Given the description of an element on the screen output the (x, y) to click on. 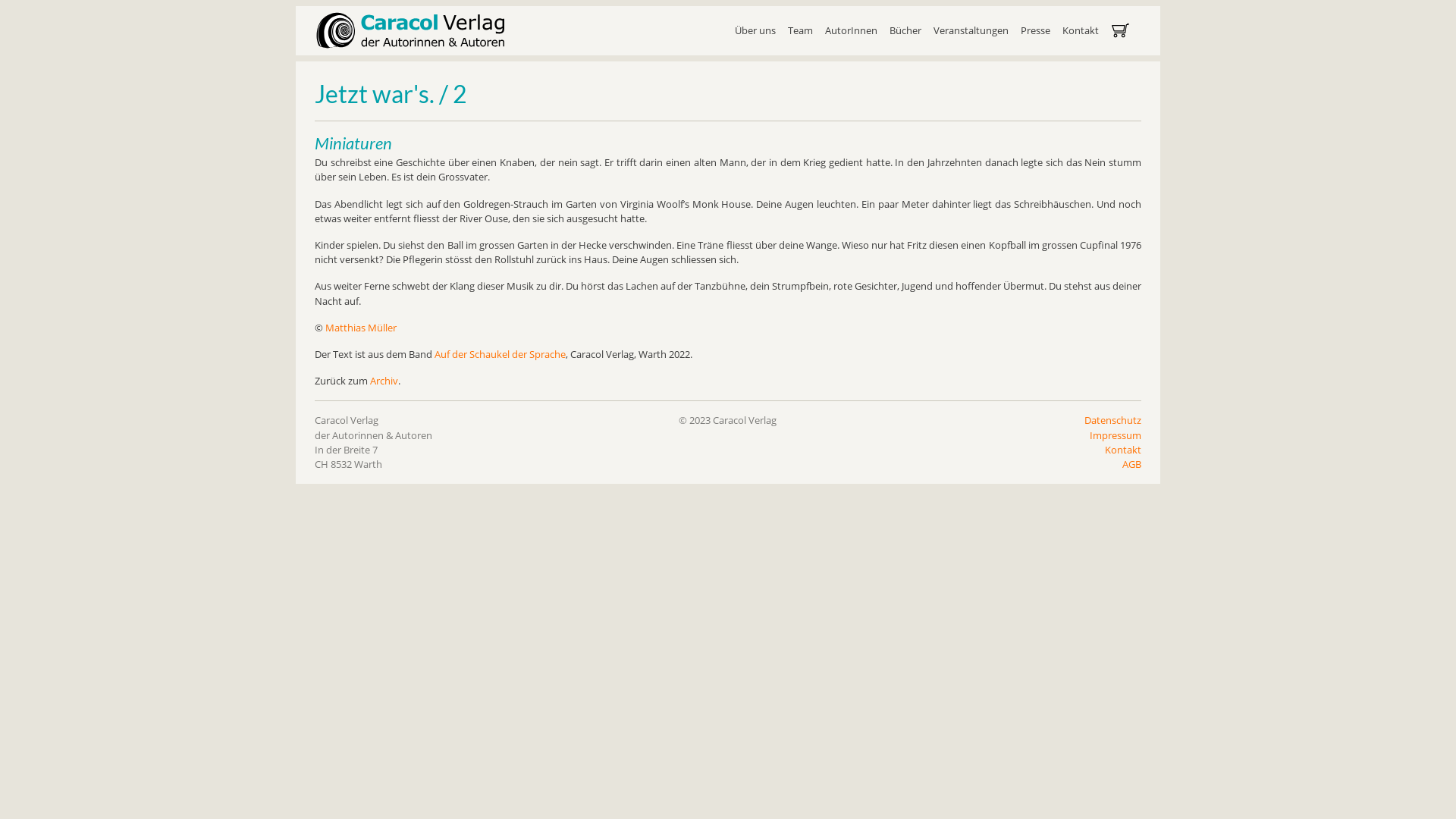
Presse Element type: text (1035, 30)
Kontakt Element type: text (1080, 30)
Datenschutz Element type: text (1112, 419)
AGB Element type: text (1131, 463)
Veranstaltungen Element type: text (970, 30)
AutorInnen Element type: text (851, 30)
Kontakt Element type: text (1122, 449)
Auf der Schaukel der Sprache Element type: text (499, 353)
Impressum Element type: text (1115, 435)
Team Element type: text (800, 30)
Archiv Element type: text (384, 380)
